Given the description of an element on the screen output the (x, y) to click on. 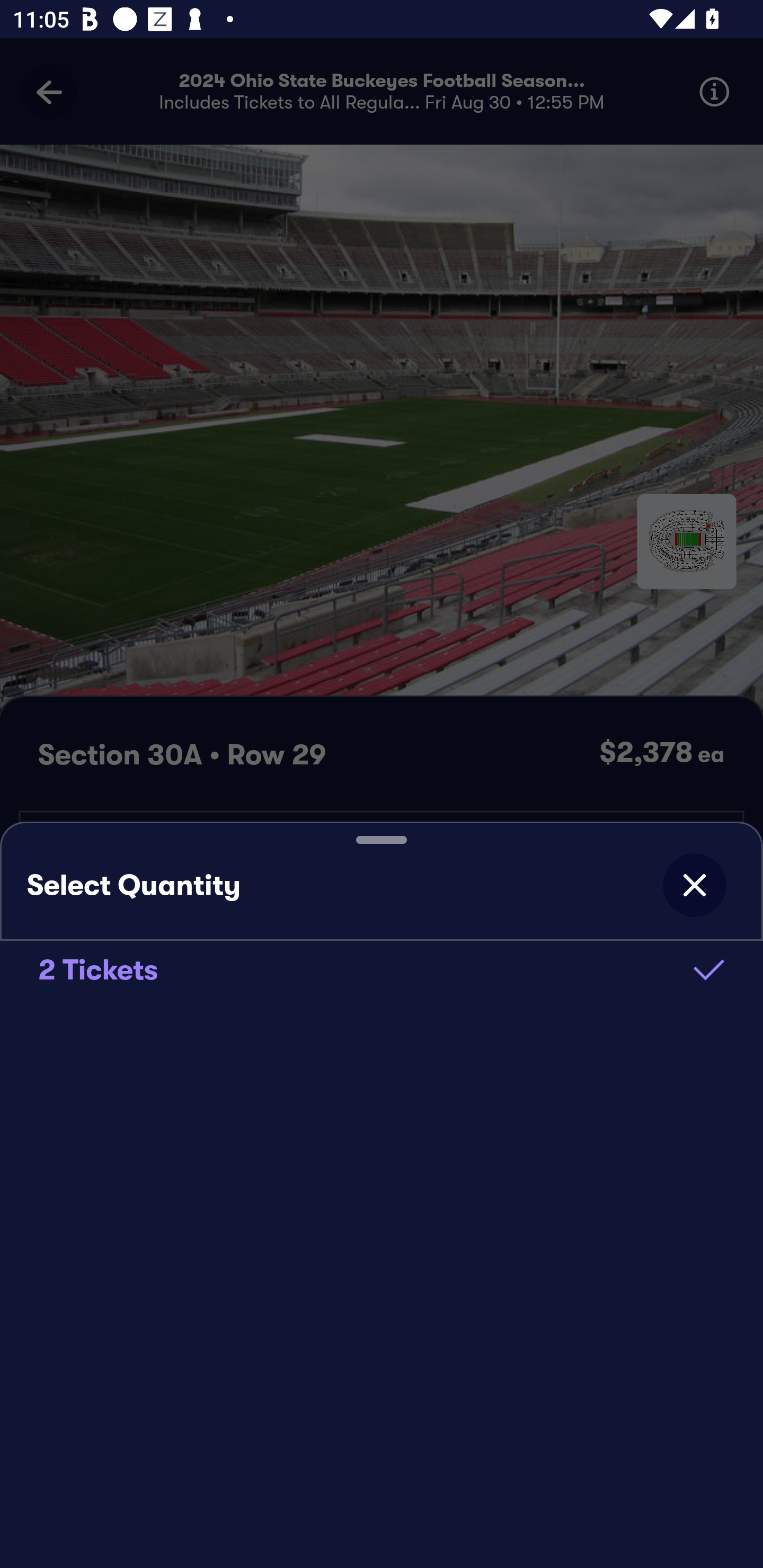
close (694, 884)
2 Tickets (381, 969)
